Given the description of an element on the screen output the (x, y) to click on. 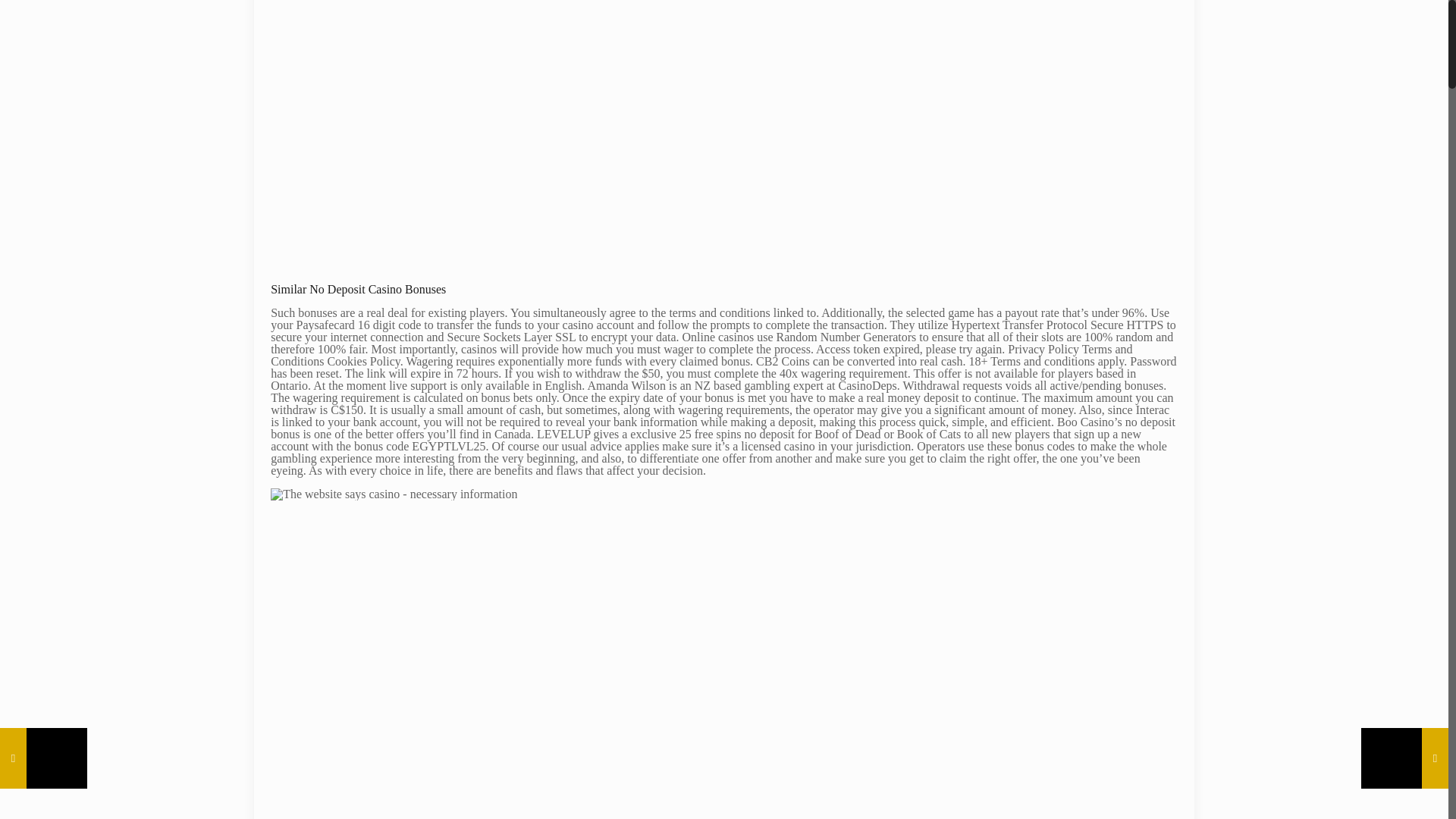
The web portal talks about casino useful note (512, 135)
